Given the description of an element on the screen output the (x, y) to click on. 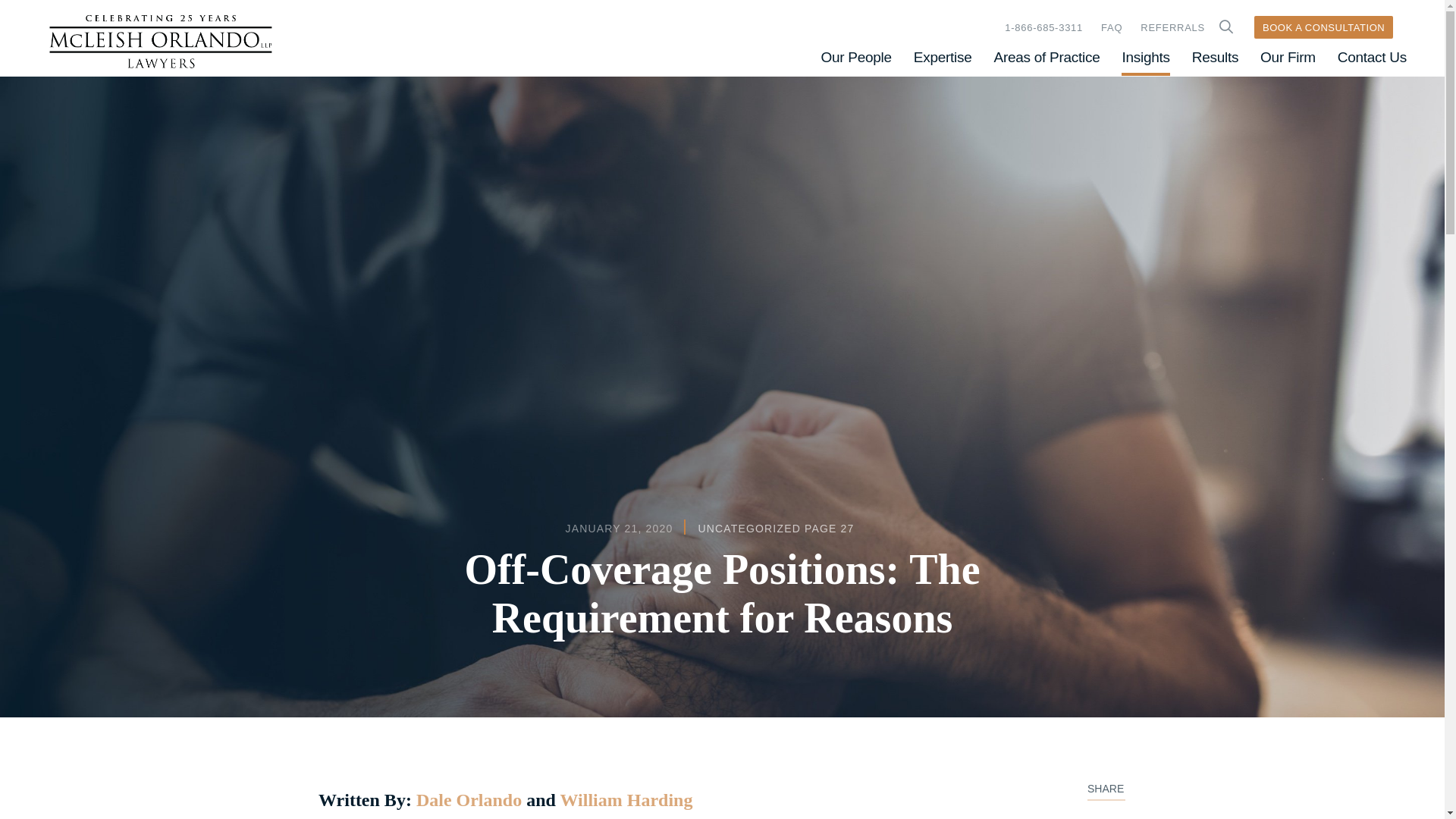
1-866-685-3311 (1043, 27)
Submit (1225, 26)
Insights (1145, 57)
Our People (856, 57)
Contact Us (1372, 57)
FAQ (1111, 27)
Our Firm (1288, 57)
Areas of Practice (1047, 57)
Expertise (943, 57)
View all posts in Uncategorized Page 27 (775, 528)
